Given the description of an element on the screen output the (x, y) to click on. 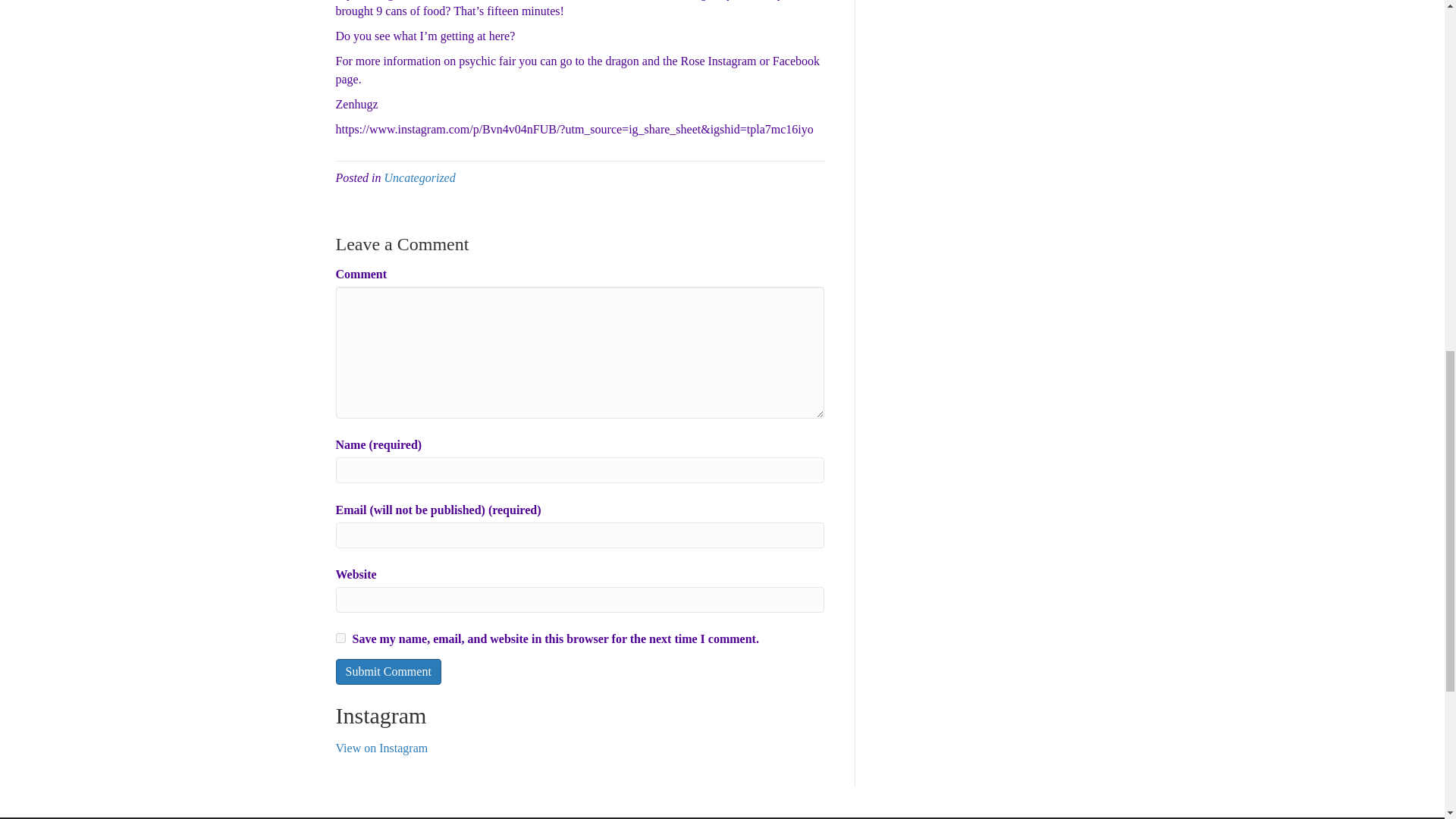
Submit Comment (387, 671)
Uncategorized (419, 177)
yes (339, 637)
Submit Comment (387, 671)
